Given the description of an element on the screen output the (x, y) to click on. 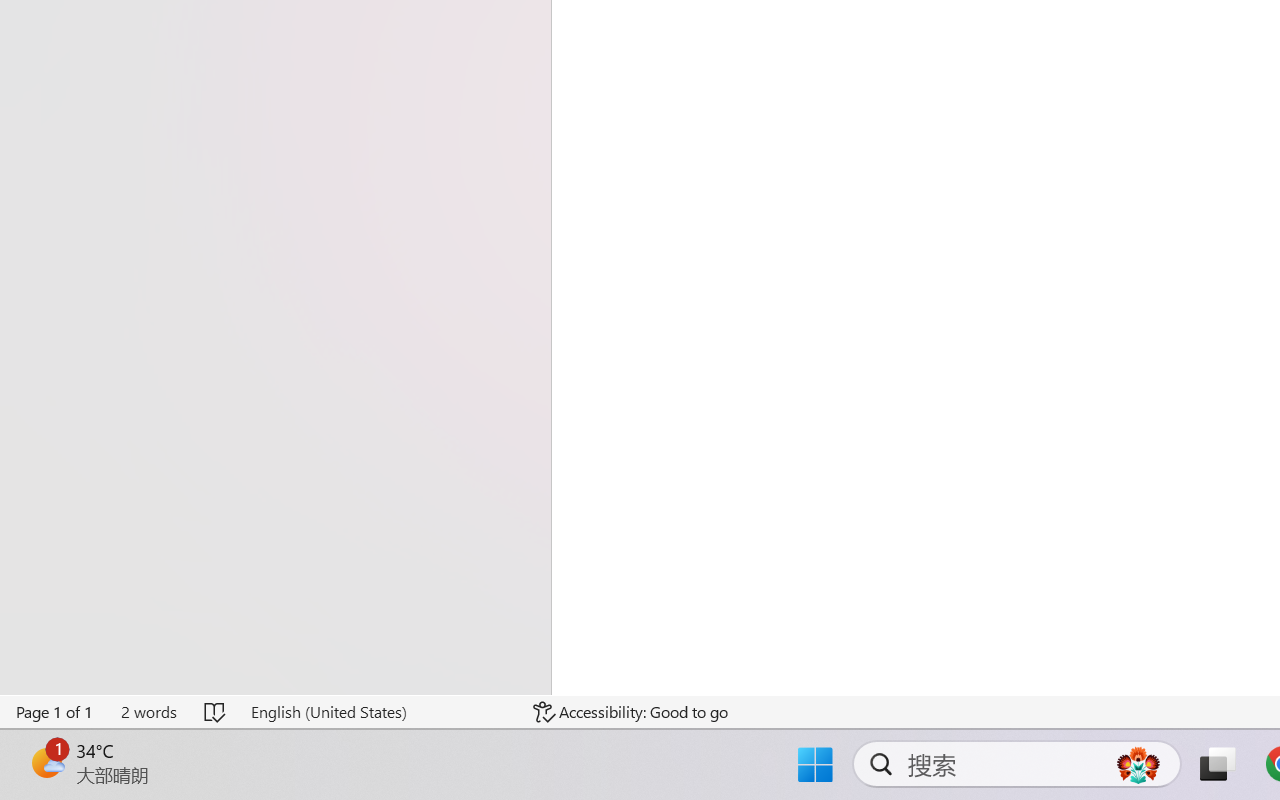
Page Number Page 1 of 1 (55, 712)
